Given the description of an element on the screen output the (x, y) to click on. 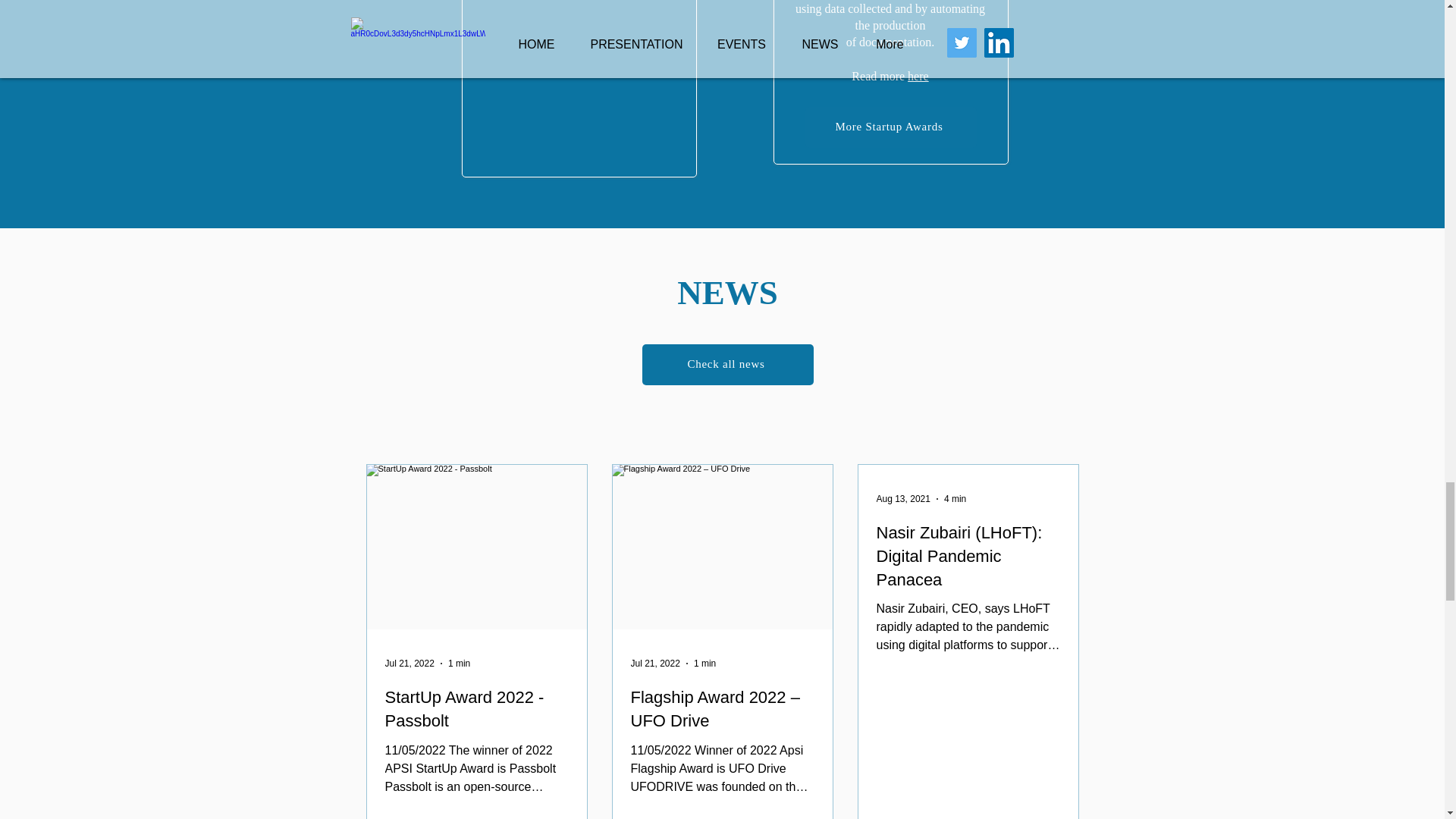
Aug 13, 2021 (903, 498)
StartUp Award 2022 - Passbolt (477, 709)
More Startup Awards (890, 127)
1 min (459, 663)
Jul 21, 2022 (654, 663)
4 min (954, 498)
Jul 21, 2022 (409, 663)
Check all news (727, 363)
1 min (705, 663)
here (917, 75)
